Given the description of an element on the screen output the (x, y) to click on. 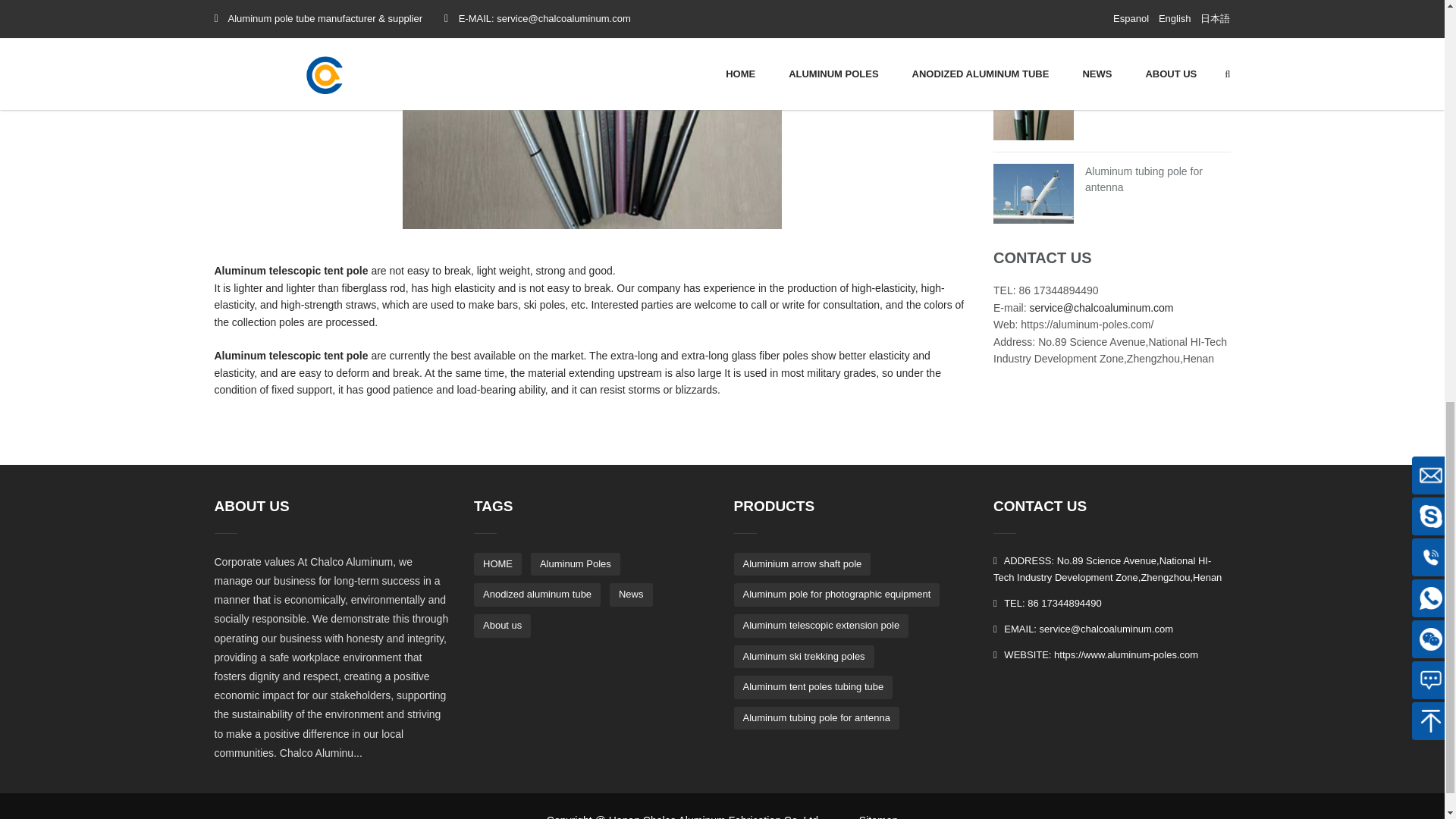
Antenna Aluminum Tube - Aluminum tubing pole for antenna (1143, 179)
Aluminum tent poles tubing (1148, 95)
Aluminum tent poles tubing tube (1148, 95)
News (631, 594)
Anodized aluminum tube (536, 594)
Aluminum Poles (575, 564)
HOME (497, 564)
Aluminum ski trekking poles (1150, 4)
Aluminum ski trekking poles tube (1150, 4)
Aluminum tubing pole for antenna (1143, 179)
